Given the description of an element on the screen output the (x, y) to click on. 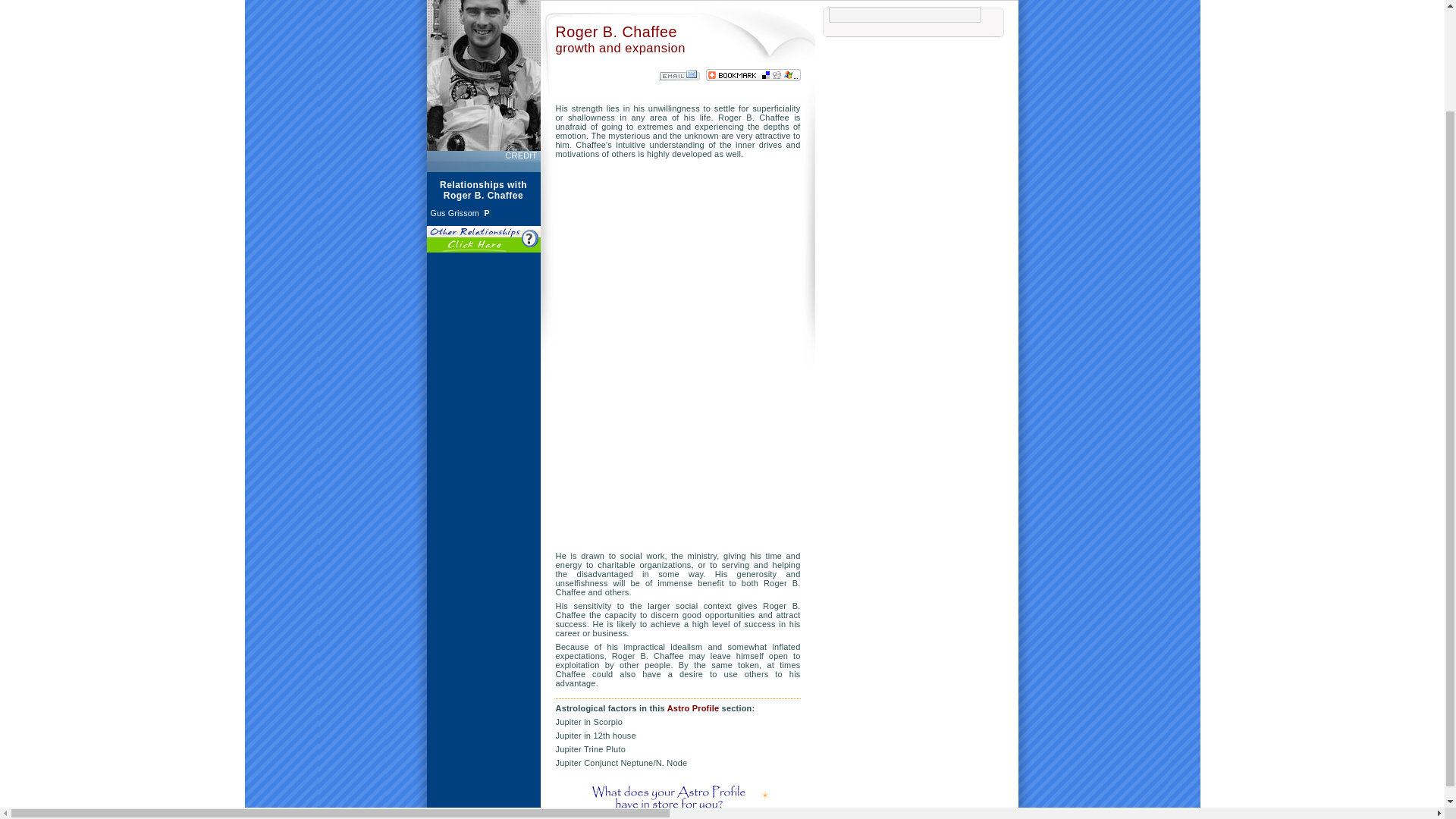
Gus Grissom (454, 212)
Search (1149, 38)
CREDIT (522, 154)
